Given the description of an element on the screen output the (x, y) to click on. 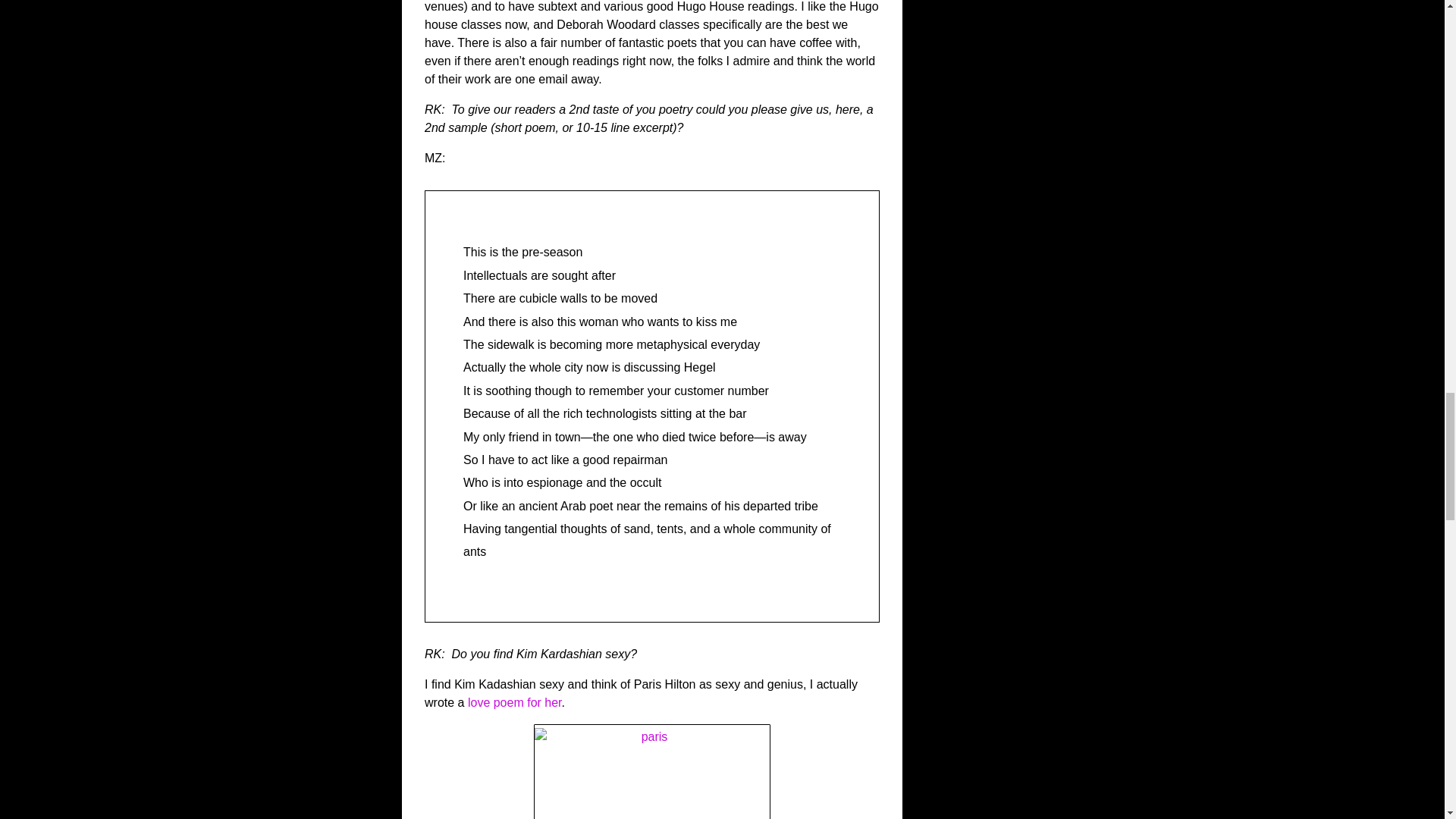
love poem for her (514, 702)
